Given the description of an element on the screen output the (x, y) to click on. 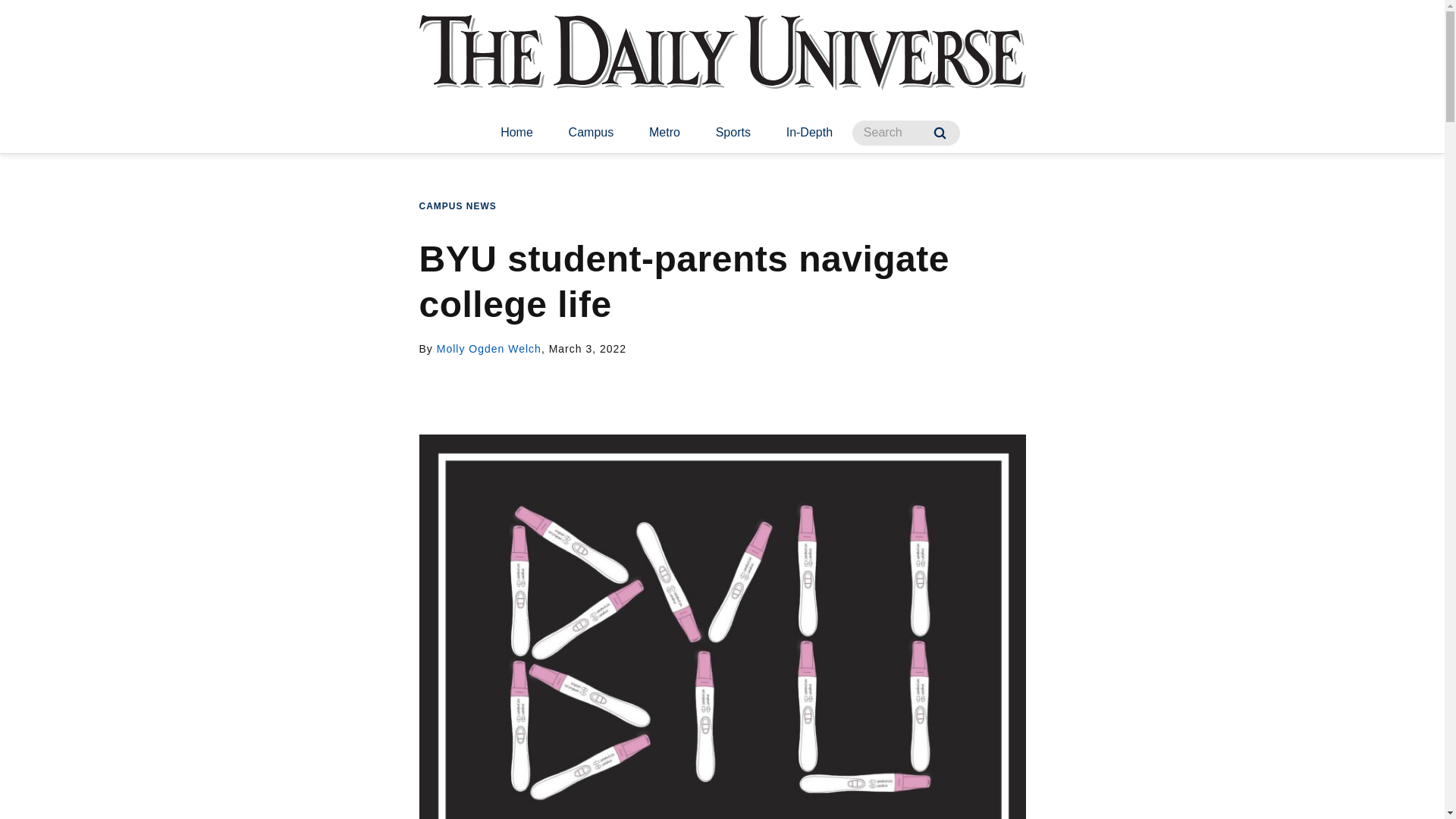
CAMPUS NEWS (457, 206)
Molly Ogden Welch (488, 348)
Home (516, 133)
Search (939, 132)
Metro (664, 133)
Campus (590, 133)
In-Depth (809, 133)
Sports (732, 133)
